Given the description of an element on the screen output the (x, y) to click on. 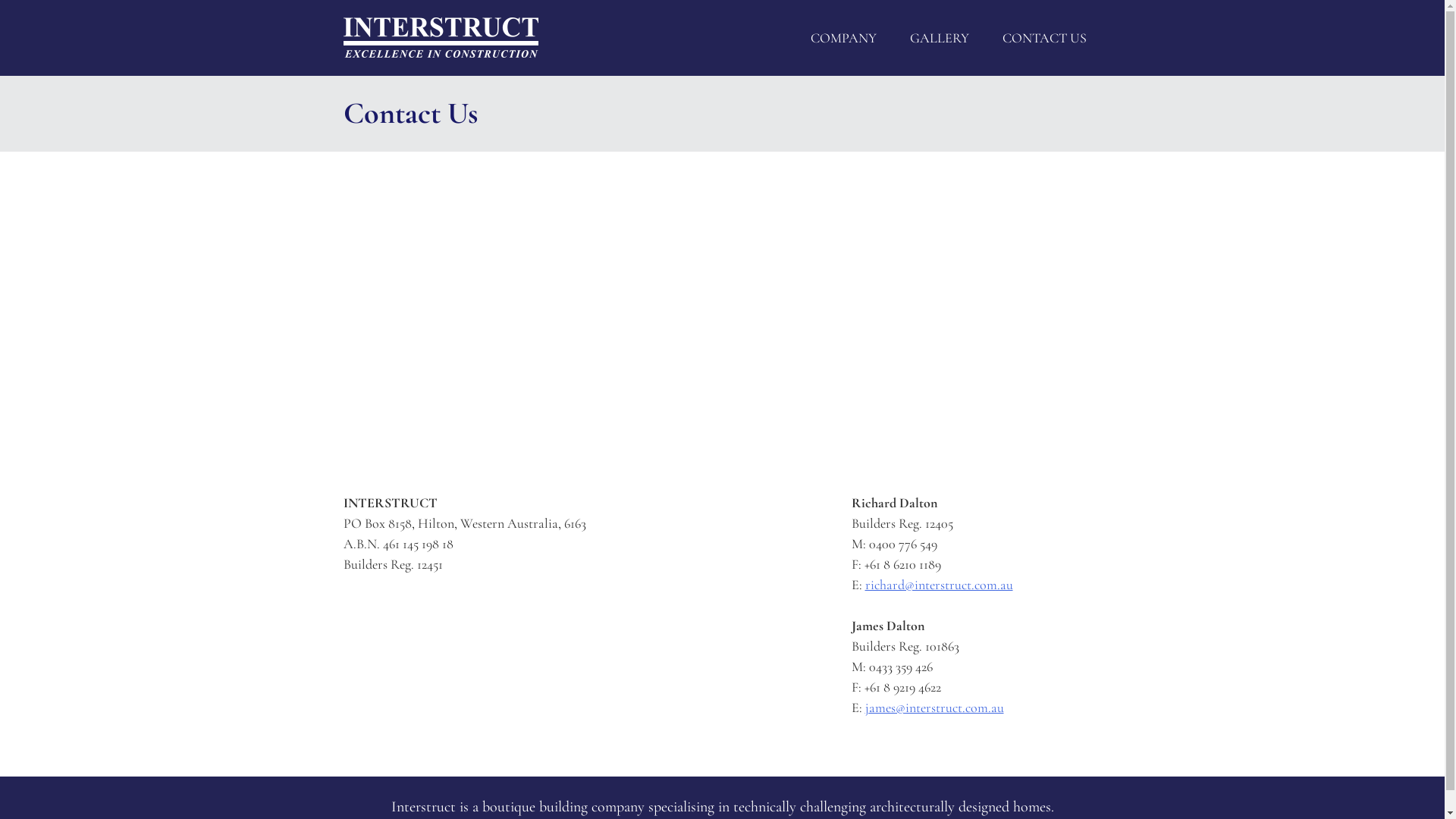
james@interstruct.com.au Element type: text (933, 707)
Interstruct Element type: text (439, 37)
richard@interstruct.com.au Element type: text (938, 584)
CONTACT US Element type: text (1044, 37)
COMPANY Element type: text (842, 37)
GALLERY Element type: text (939, 37)
